Given the description of an element on the screen output the (x, y) to click on. 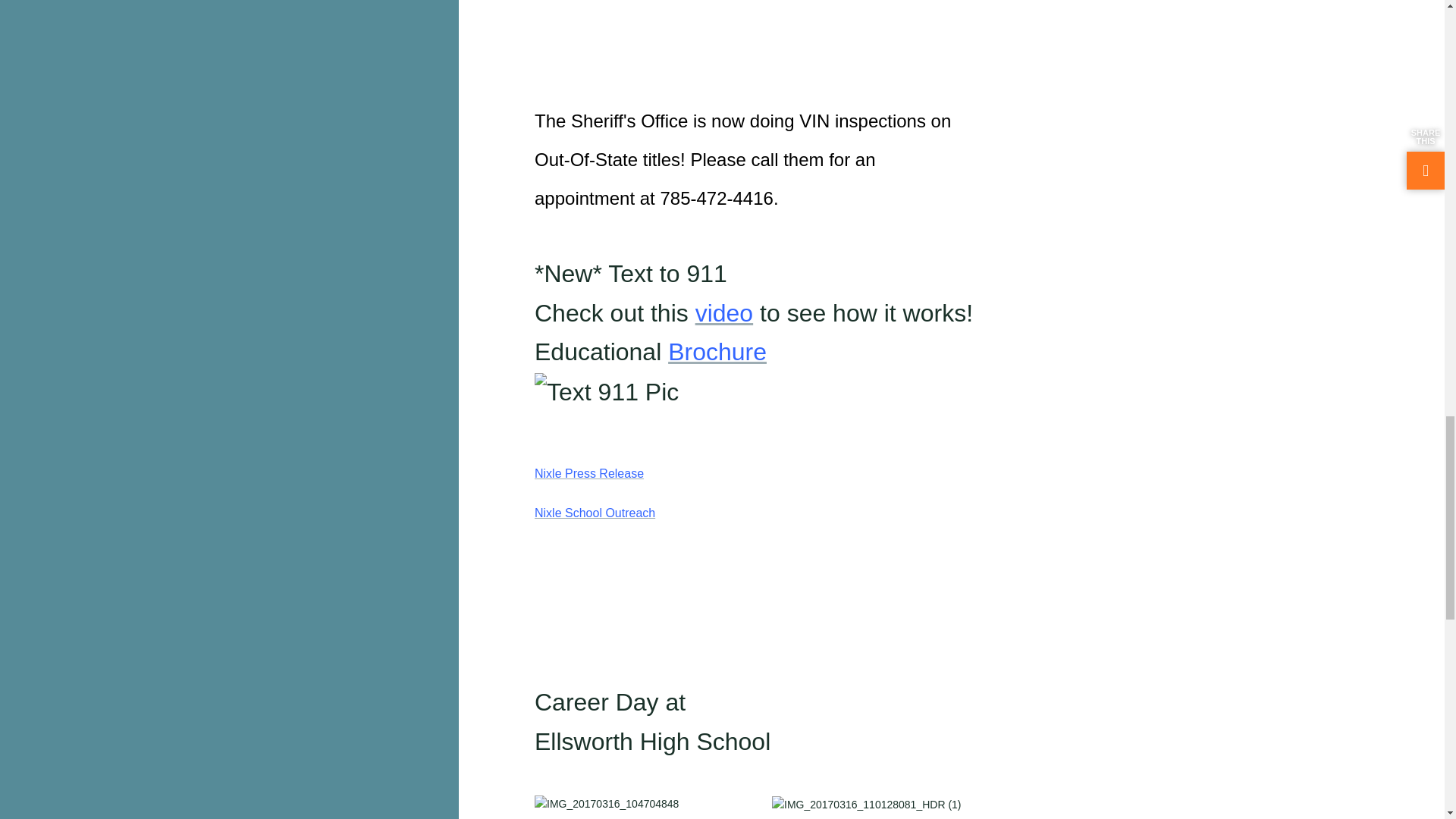
video (724, 312)
Text 911 Pic (606, 392)
Nixle Press Release (588, 472)
Brochure (717, 351)
